Given the description of an element on the screen output the (x, y) to click on. 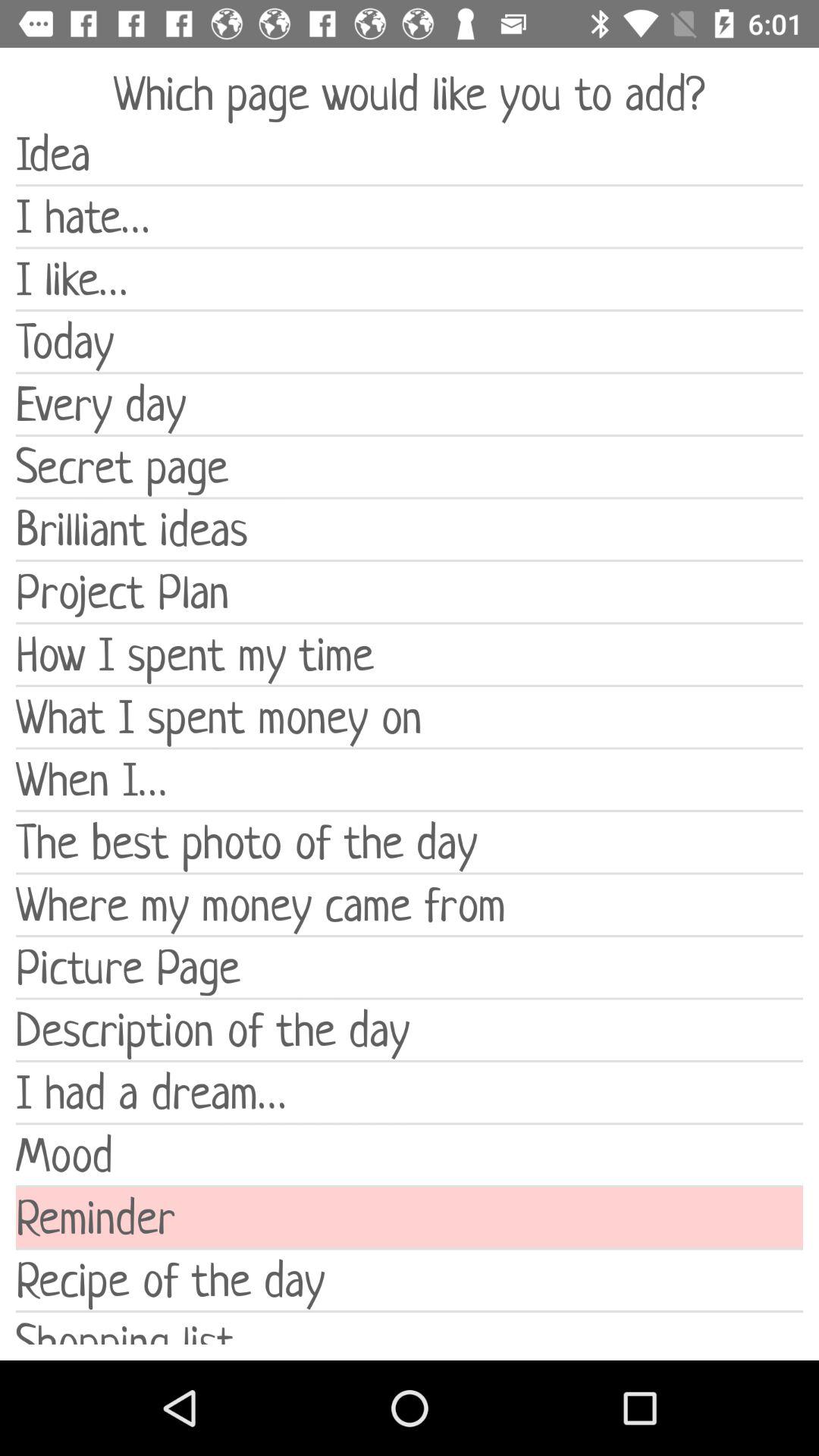
open secret page icon (409, 466)
